Given the description of an element on the screen output the (x, y) to click on. 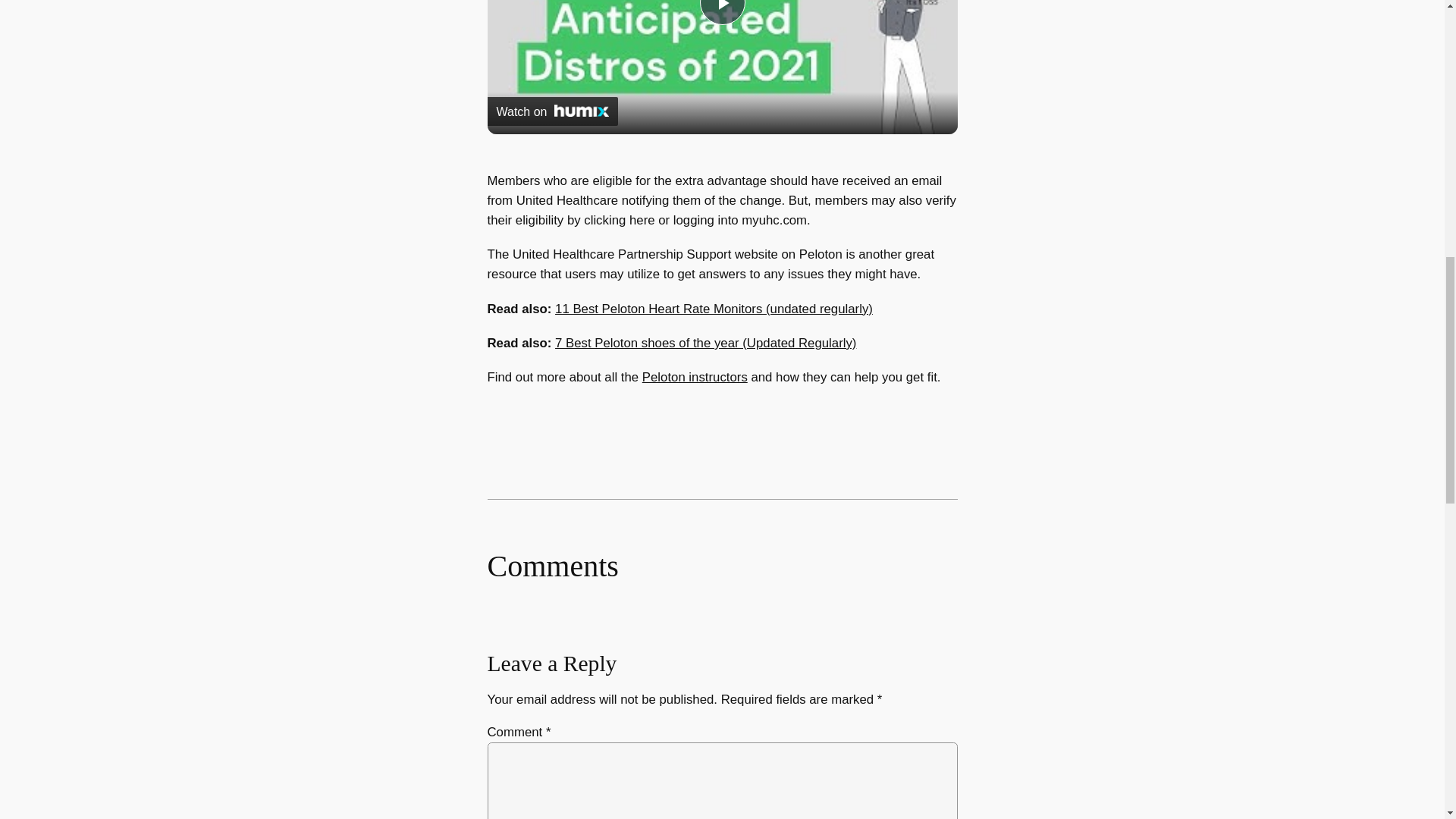
Play Video (721, 12)
Watch on (551, 111)
Play Video (721, 12)
Peloton instructors (695, 377)
